Given the description of an element on the screen output the (x, y) to click on. 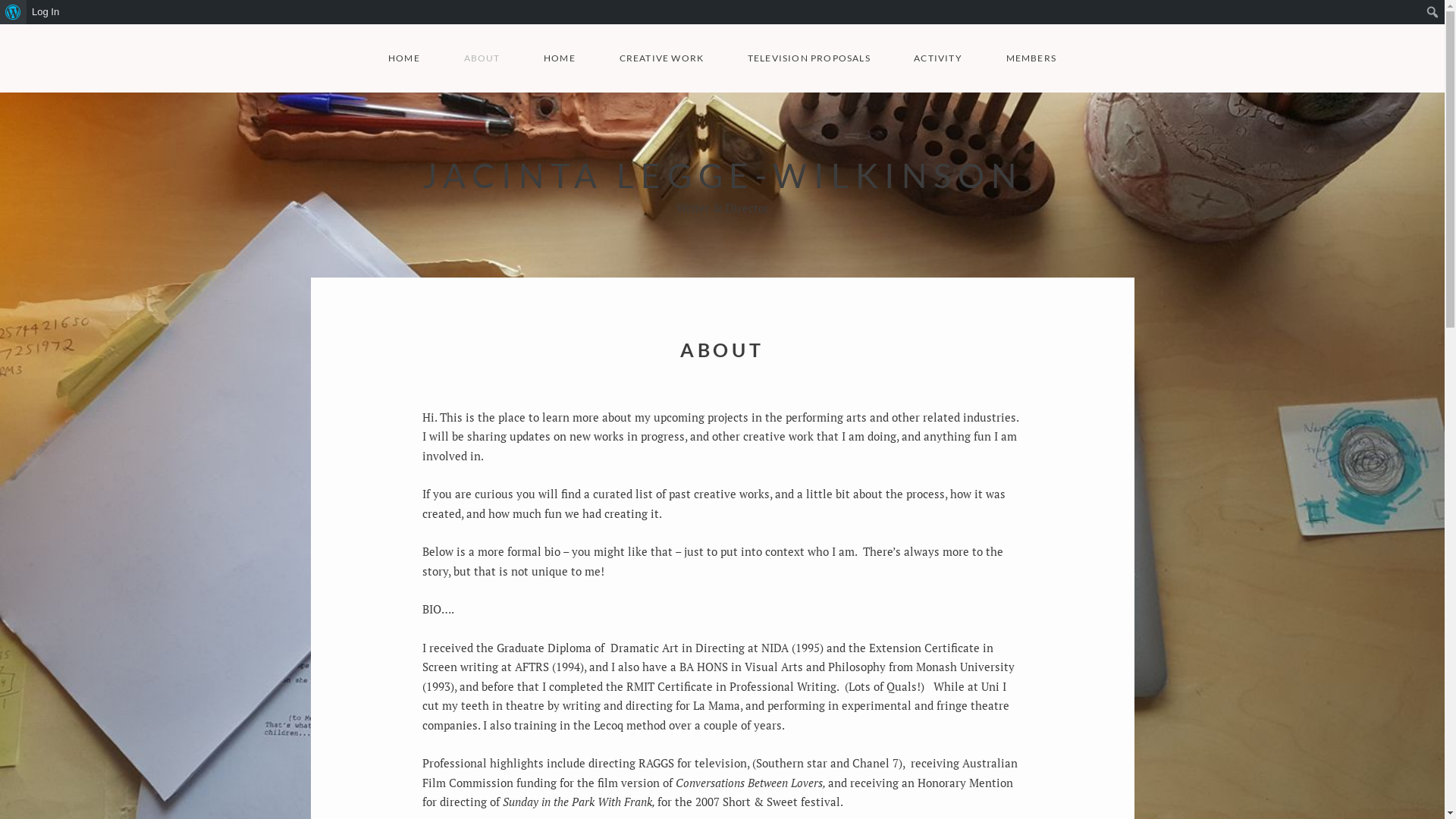
ABOUT Element type: text (482, 57)
JACINTA LEGGE-WILKINSON Element type: text (722, 174)
MEMBERS Element type: text (1030, 57)
CREATIVE WORK Element type: text (660, 57)
Log In Element type: text (45, 12)
ACTIVITY Element type: text (937, 57)
HOME Element type: text (559, 57)
Search Element type: text (15, 12)
HOME Element type: text (404, 57)
TELEVISION PROPOSALS Element type: text (808, 57)
